Given the description of an element on the screen output the (x, y) to click on. 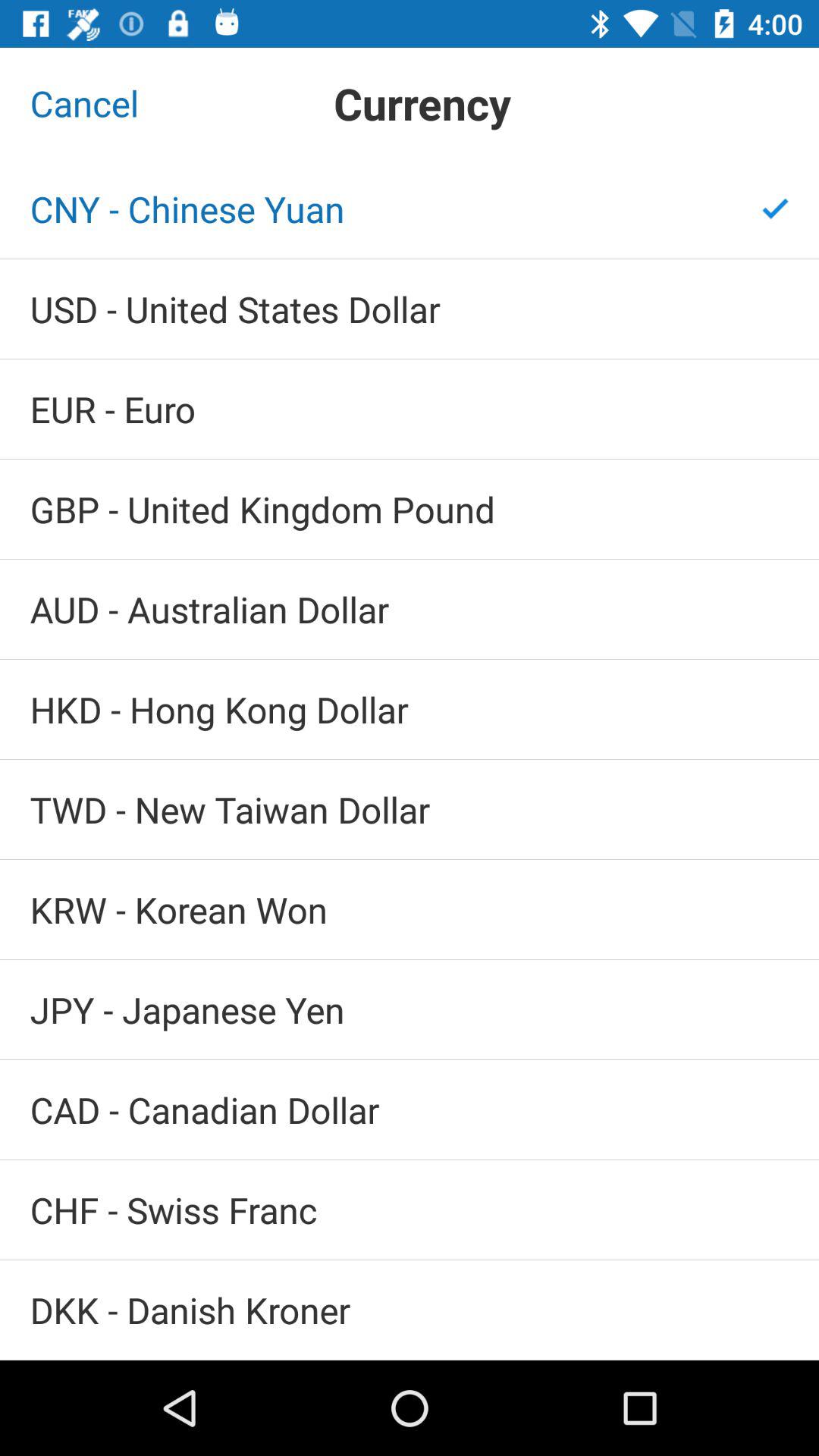
jump to the twd new taiwan (409, 809)
